Given the description of an element on the screen output the (x, y) to click on. 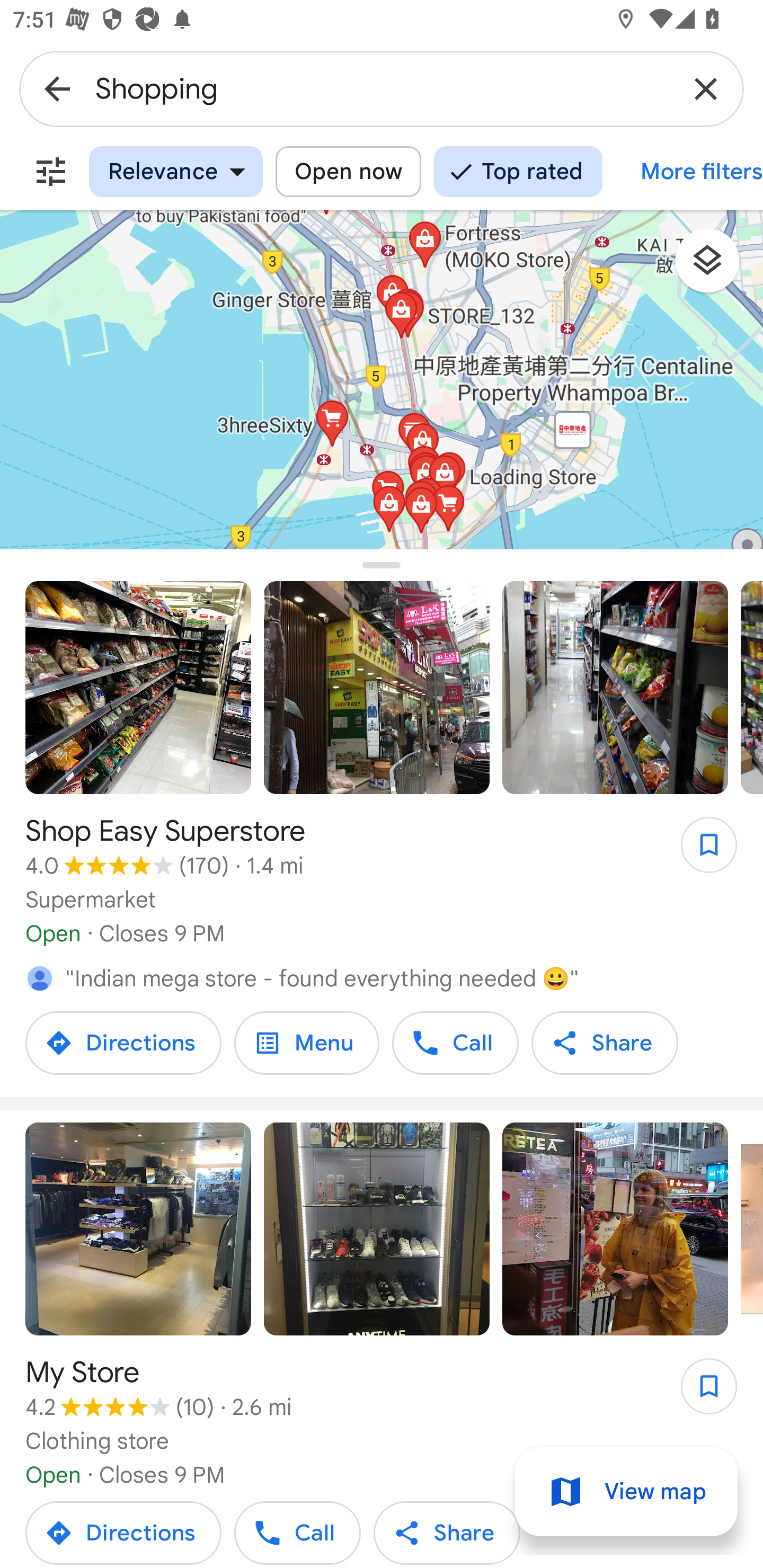
Back (57, 88)
Shopping (381, 88)
Clear (705, 88)
More filters (50, 171)
Relevance Relevance Relevance (175, 171)
Open now Open now Open now (348, 171)
Top rated Top rated Top rated (518, 171)
More filters More filters More filters (688, 171)
Layers (716, 267)
Photo (138, 687)
Photo (376, 687)
Photo (614, 687)
Save Shop Easy Superstore to lists (699, 851)
Photo (138, 1228)
Photo (376, 1228)
Photo (614, 1228)
Save My Store to lists (699, 1392)
View map Map view (626, 1491)
Call My Store Call Call My Store (297, 1531)
Share My Store Share Share My Store (446, 1531)
